Given the description of an element on the screen output the (x, y) to click on. 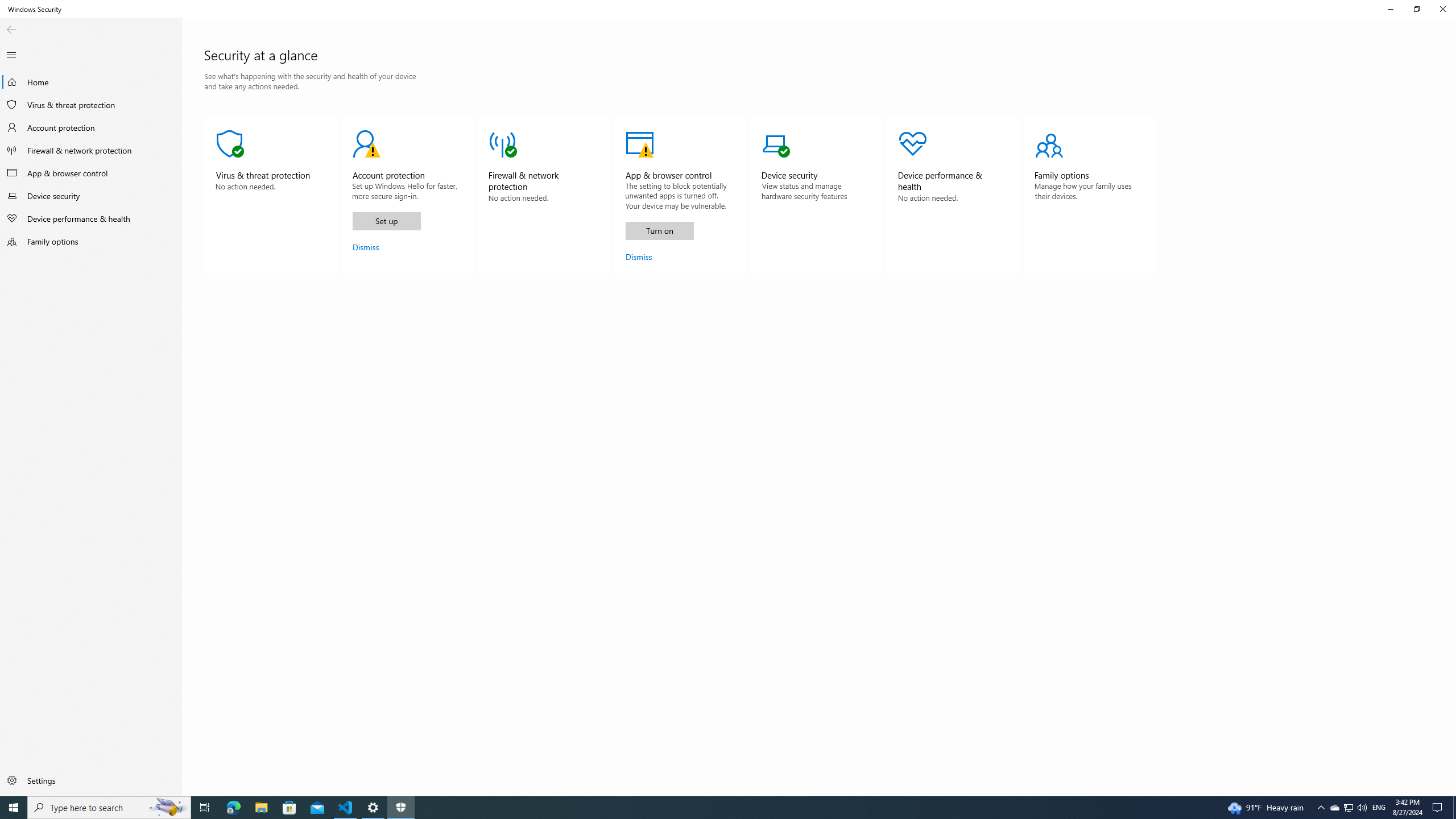
Restore Windows Security (1416, 9)
Windows Security - 1 running window (400, 807)
Back (11, 29)
App & browser controlAction Recommended. (679, 195)
Settings - 1 running window (373, 807)
Windows Hello set up (386, 221)
Type here to search (108, 807)
User Promoted Notification Area (1347, 807)
Close Navigation (11, 54)
Close Windows Security (1442, 9)
Turn on (660, 230)
Q2790: 100% (1361, 807)
Firewall & network protectionNo action needed. (543, 195)
Visual Studio Code - 1 running window (345, 807)
